Given the description of an element on the screen output the (x, y) to click on. 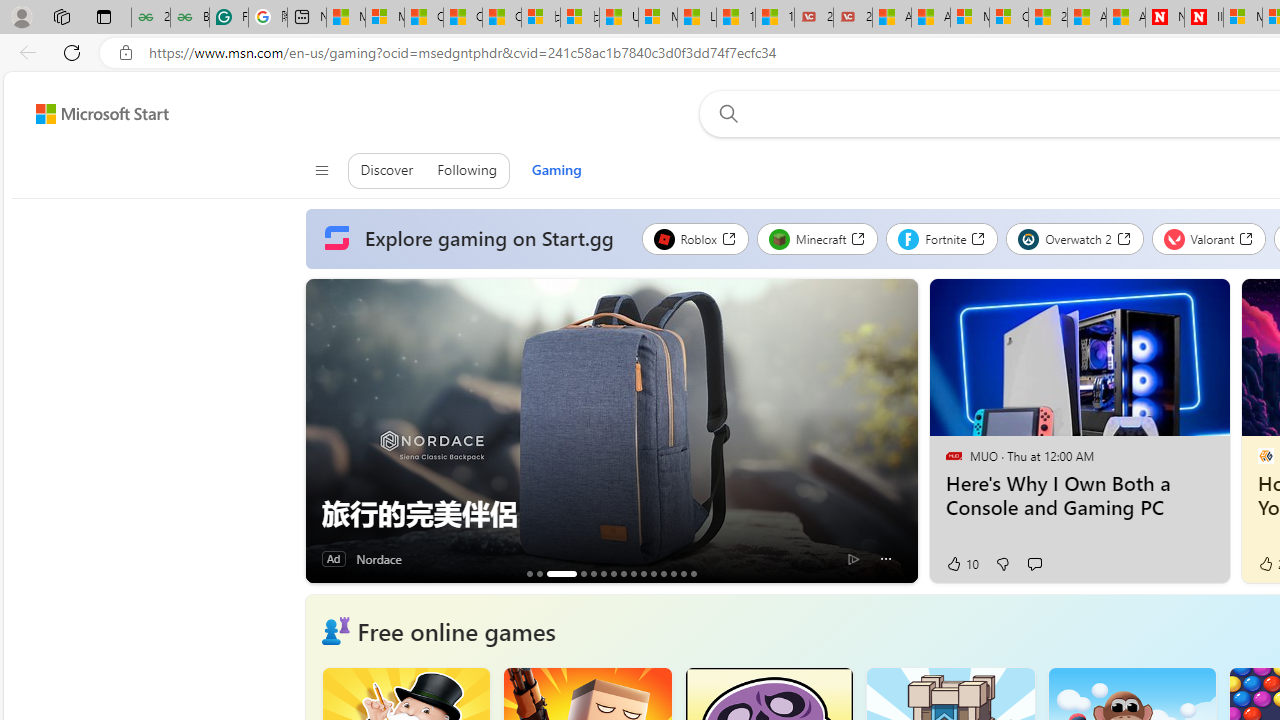
10 Like (961, 564)
Starfield: How To Use Your Spaceship (663, 573)
Free AI Writing Assistance for Students | Grammarly (228, 17)
Gaming (555, 170)
How Shein Is Revolutionizing The Fashion Industry? (539, 573)
AutomationID: nativead-infopane-3-ad-choice (853, 558)
Free online games (456, 630)
HowToGeek (1264, 455)
Best SSL Certificates Provider in India - GeeksforGeeks (189, 17)
